Given the description of an element on the screen output the (x, y) to click on. 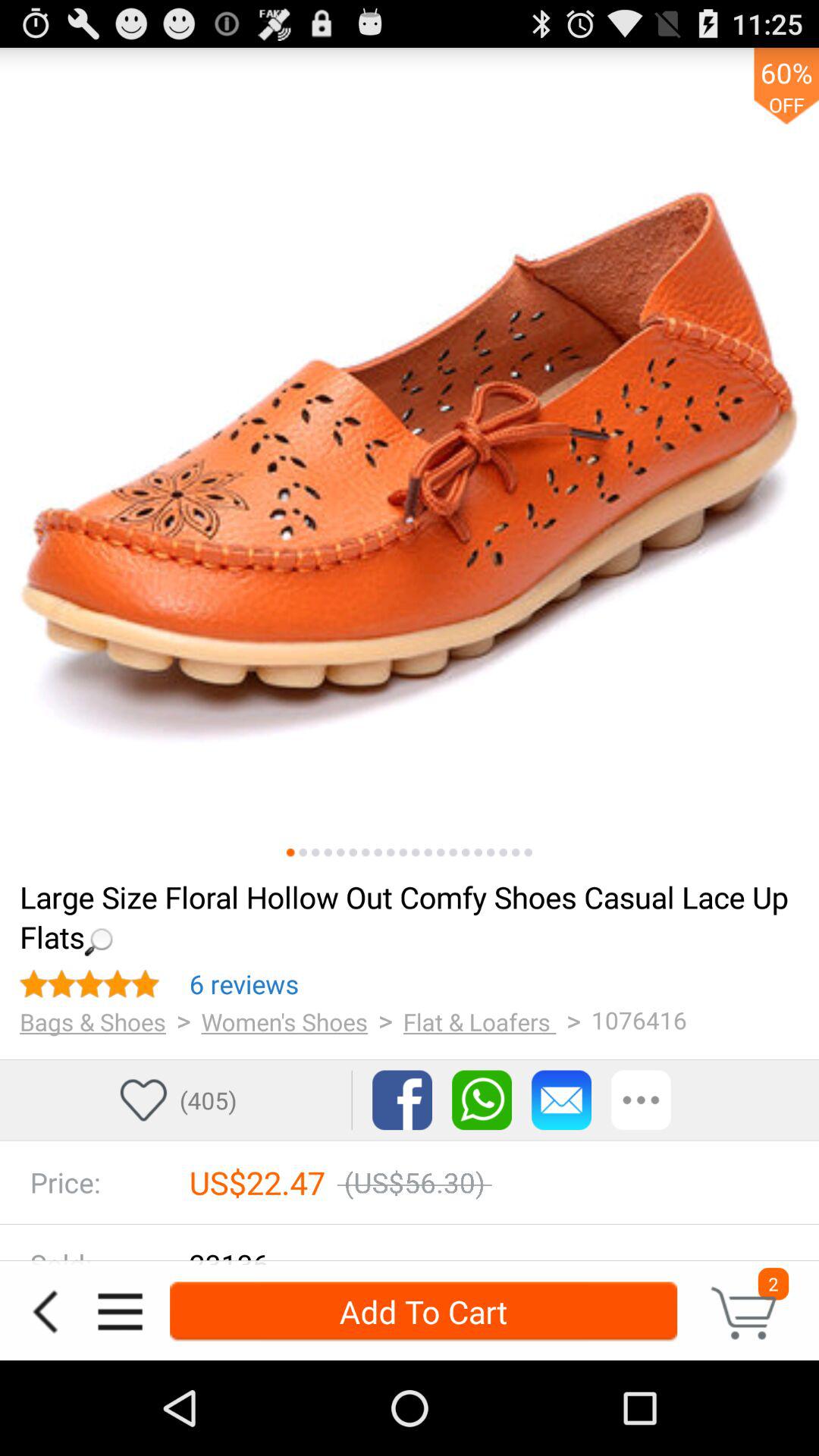
go to another photo (528, 852)
